Given the description of an element on the screen output the (x, y) to click on. 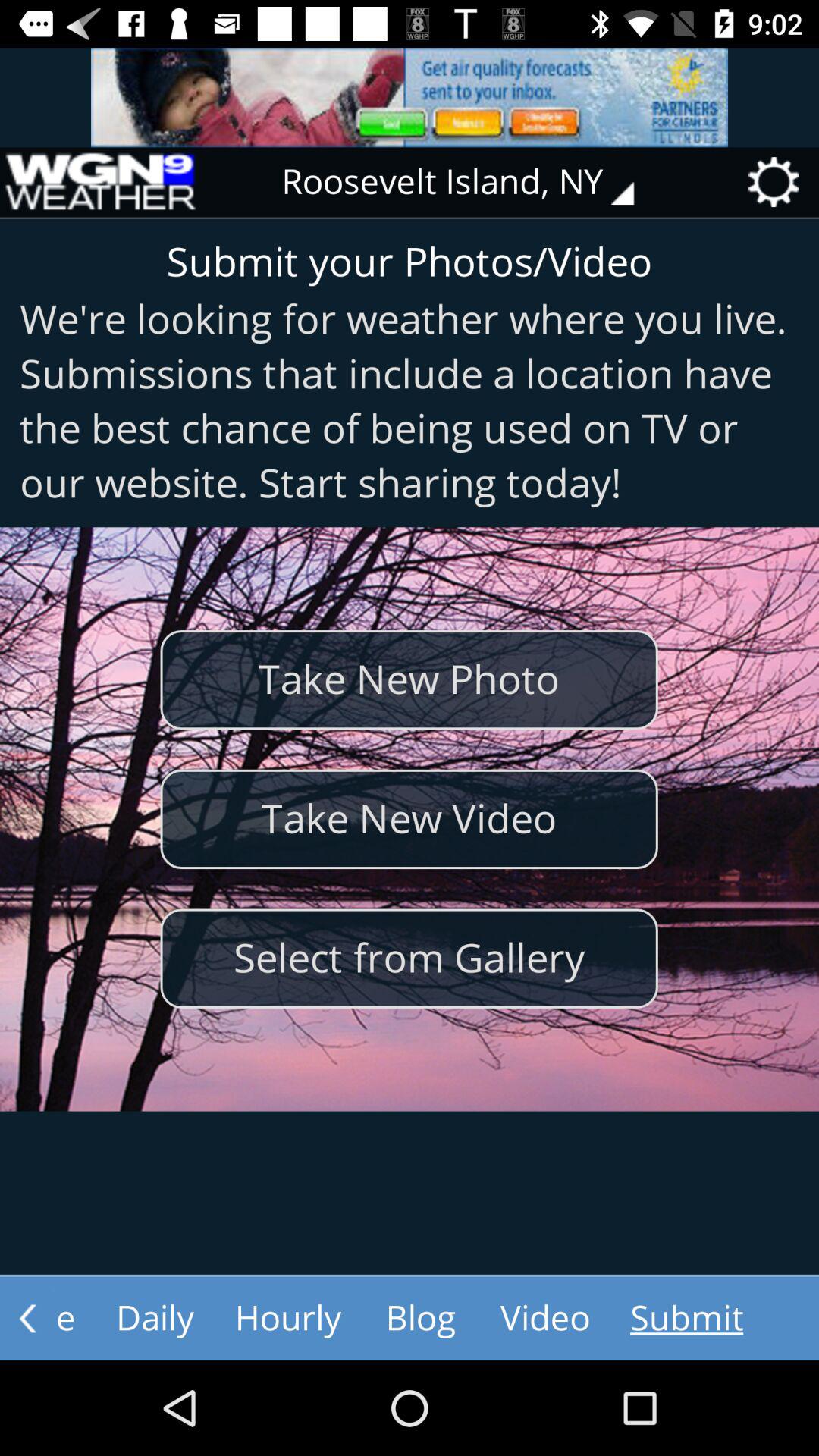
tap the icon at the top left corner (99, 182)
